Given the description of an element on the screen output the (x, y) to click on. 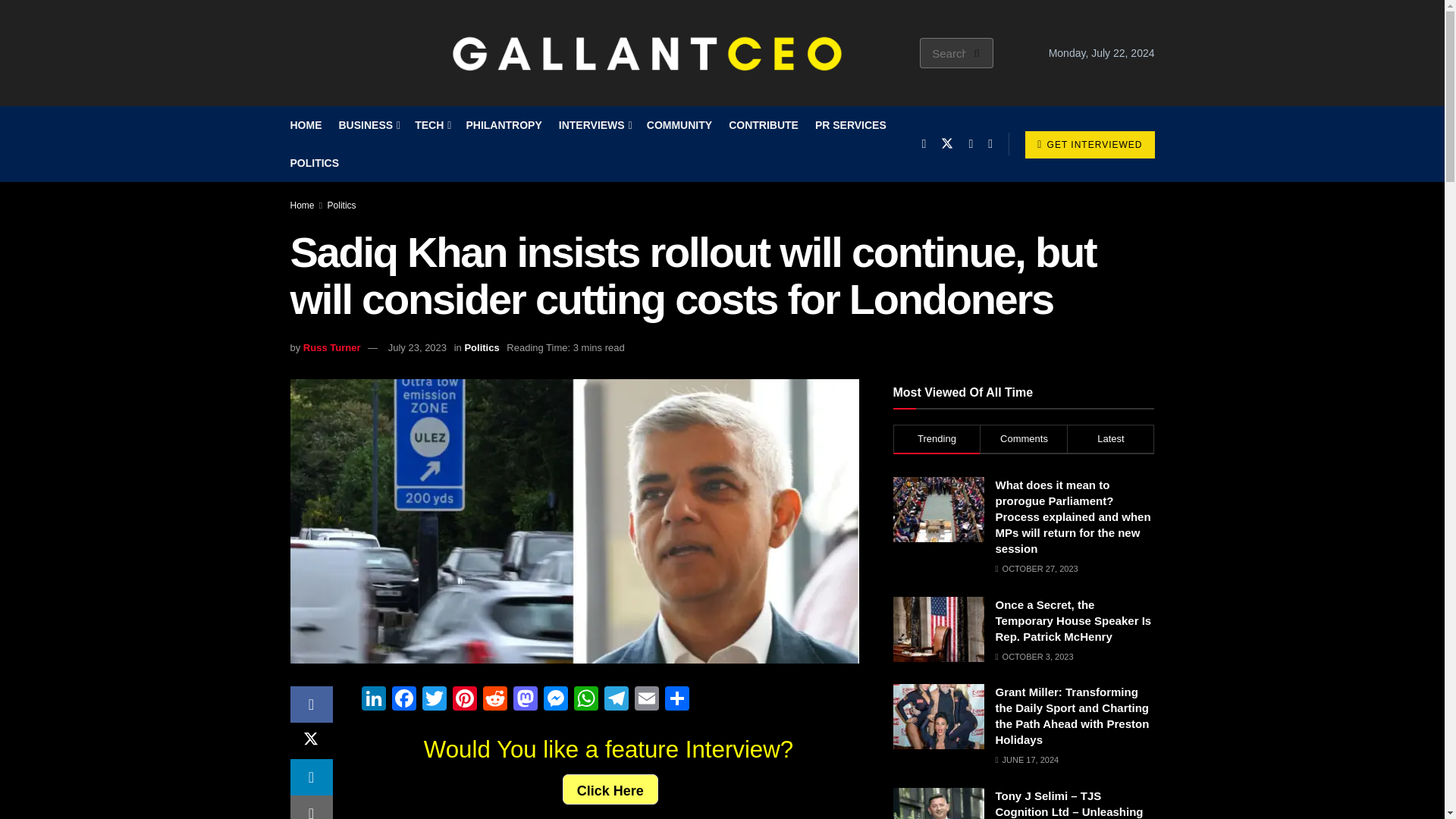
WhatsApp (584, 700)
Pinterest (463, 700)
Click Here (610, 788)
POLITICS (314, 162)
PR SERVICES (850, 125)
Messenger (555, 700)
BUSINESS (367, 125)
PHILANTROPY (503, 125)
Email (645, 700)
CONTRIBUTE (763, 125)
GET INTERVIEWED (1089, 144)
LinkedIn (373, 700)
Reddit (494, 700)
INTERVIEWS (594, 125)
